Given the description of an element on the screen output the (x, y) to click on. 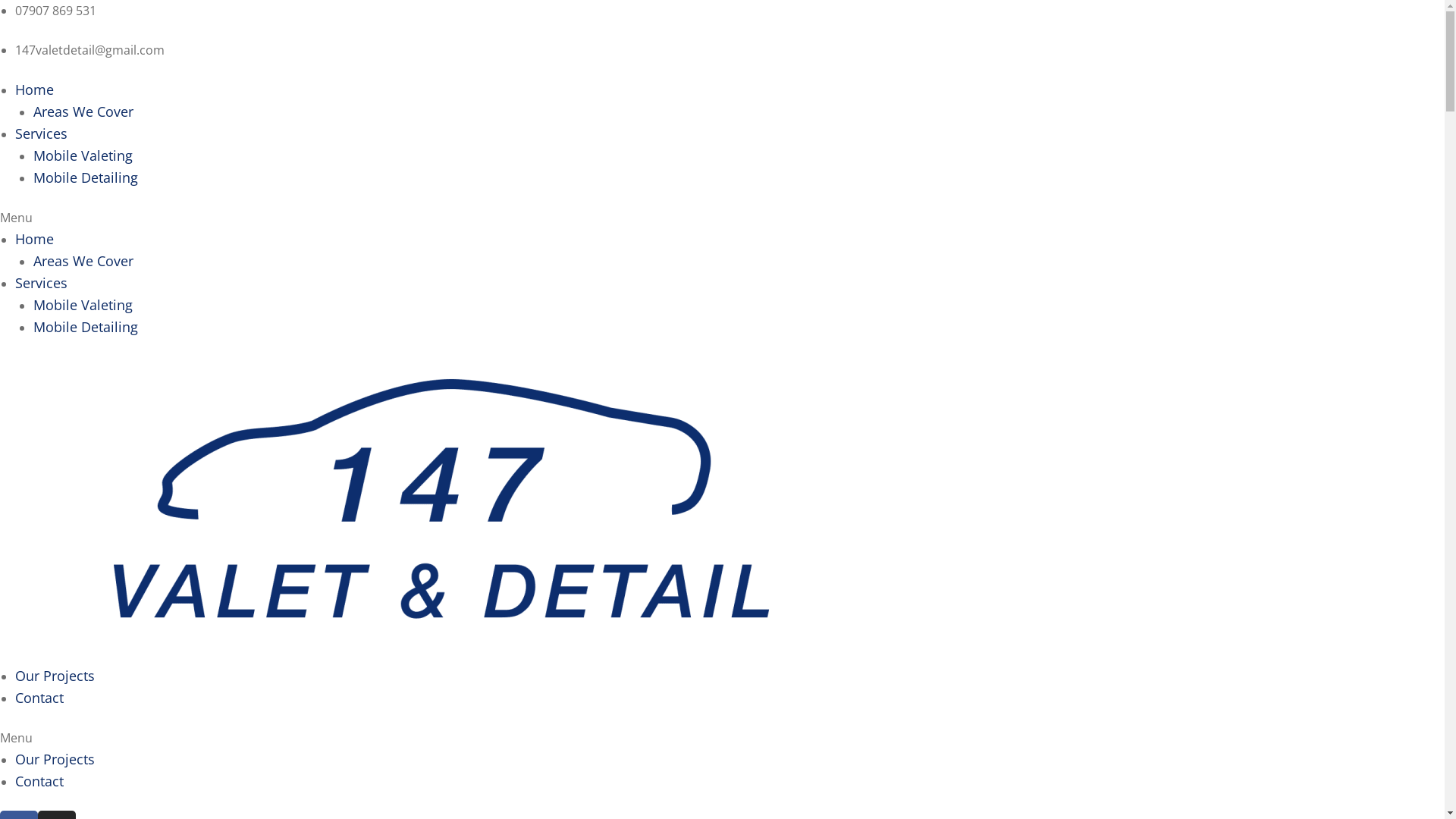
Our Projects Element type: text (54, 675)
Areas We Cover Element type: text (83, 111)
Mobile Valeting Element type: text (82, 304)
Areas We Cover Element type: text (83, 260)
Mobile Detailing Element type: text (85, 326)
Contact Element type: text (39, 697)
Services Element type: text (41, 282)
Mobile Detailing Element type: text (85, 177)
Our Projects Element type: text (54, 758)
Mobile Valeting Element type: text (82, 155)
Contact Element type: text (39, 780)
Services Element type: text (41, 133)
Home Element type: text (34, 238)
Home Element type: text (34, 89)
